Given the description of an element on the screen output the (x, y) to click on. 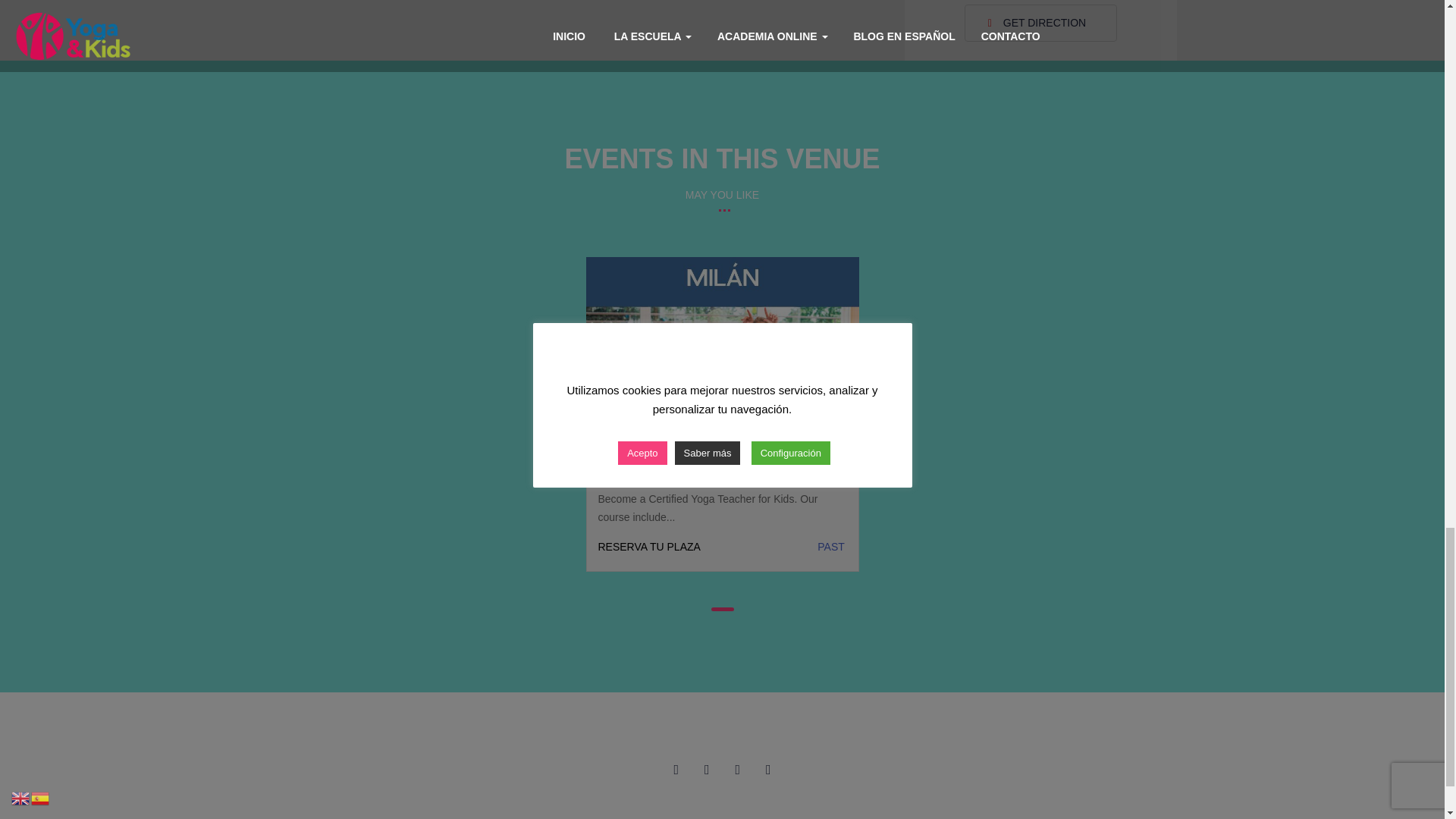
RESERVA TU PLAZA (659, 546)
MILAN (616, 462)
GET DIRECTION (1039, 22)
